Given the description of an element on the screen output the (x, y) to click on. 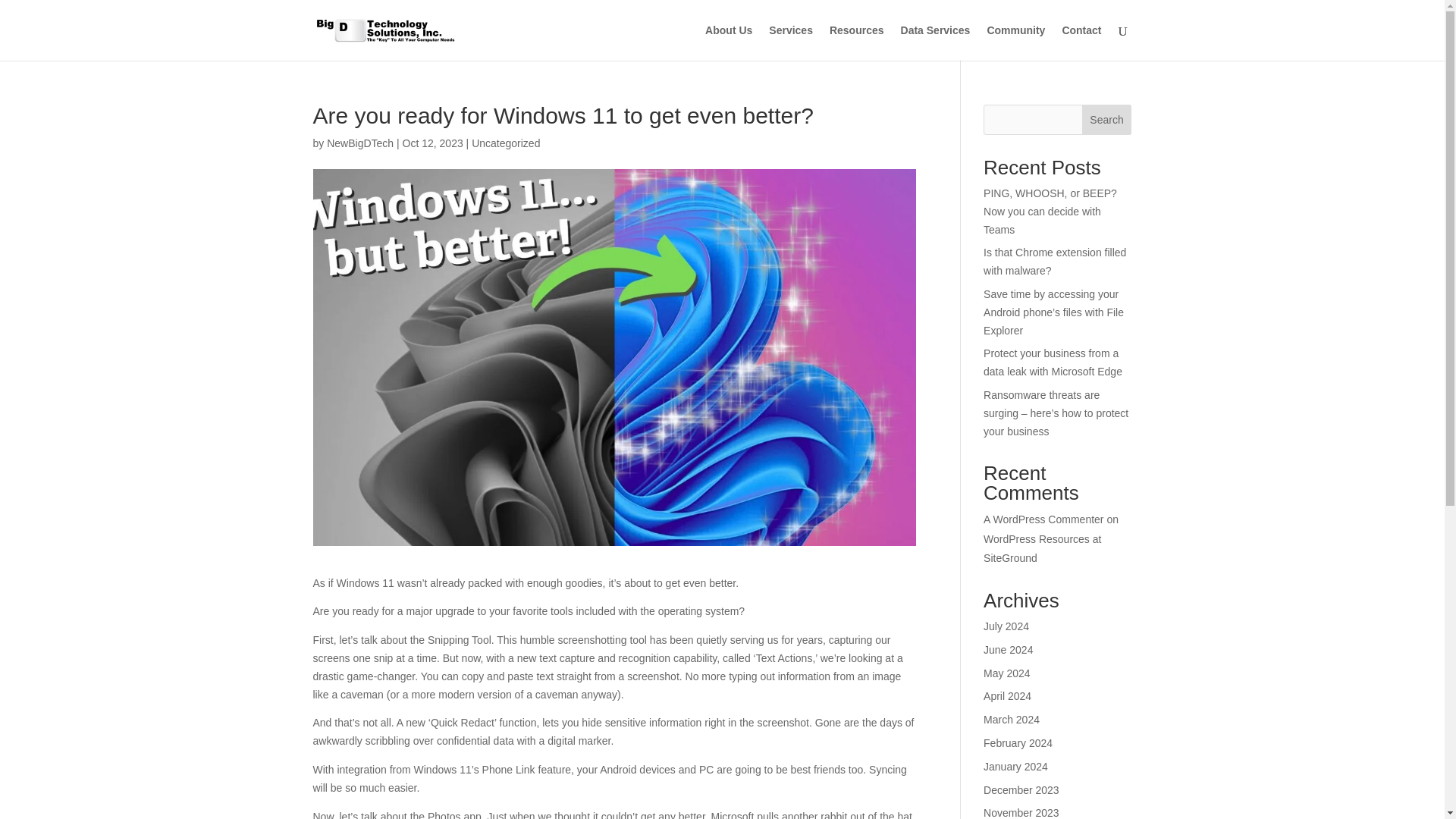
February 2024 (1018, 743)
PING, WHOOSH, or BEEP? Now you can decide with Teams (1050, 211)
Resources (856, 42)
About Us (728, 42)
March 2024 (1011, 719)
July 2024 (1006, 625)
December 2023 (1021, 789)
Is that Chrome extension filled with malware? (1054, 261)
NewBigDTech (359, 143)
Uncategorized (505, 143)
Protect your business from a data leak with Microsoft Edge (1053, 362)
Services (790, 42)
Search (1106, 119)
May 2024 (1006, 673)
April 2024 (1007, 695)
